Given the description of an element on the screen output the (x, y) to click on. 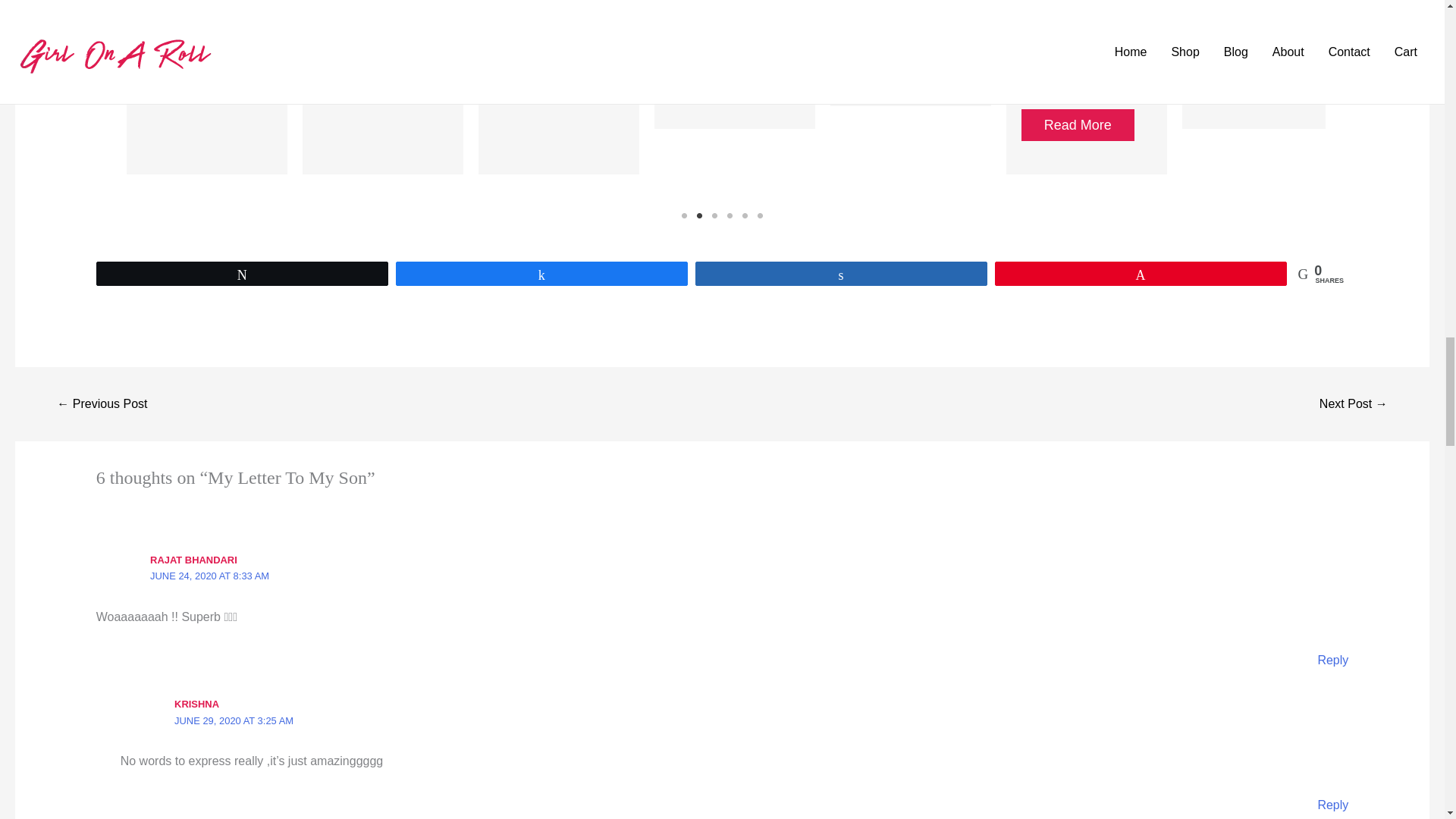
The Freedom of Imperfection (368, 6)
A Birthday Poem for My Son (547, 6)
Read More (550, 54)
Read More (197, 78)
Read More (373, 54)
Confessions Of A Homeschooling Mom (724, 18)
